Given the description of an element on the screen output the (x, y) to click on. 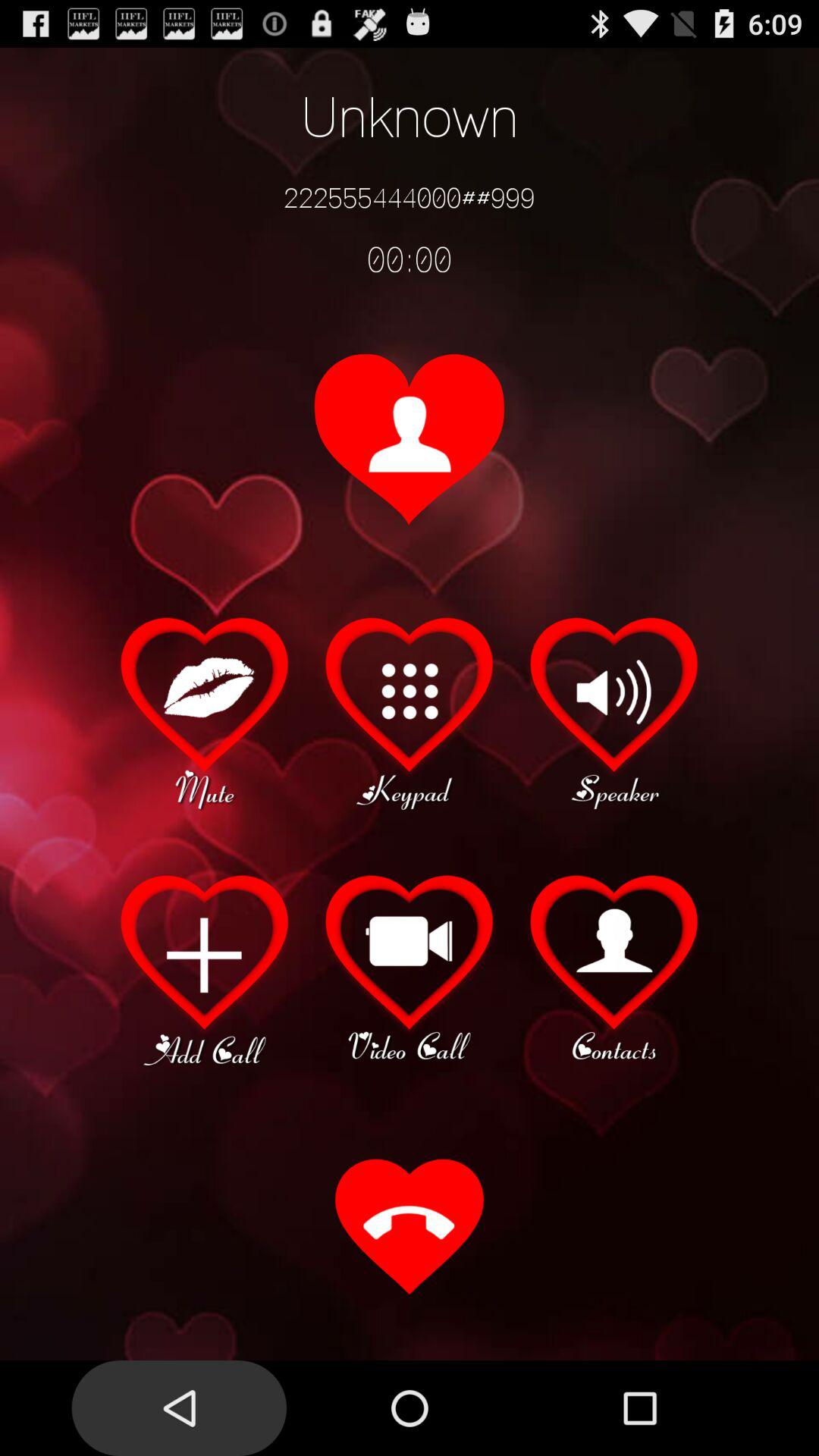
call (409, 1228)
